Given the description of an element on the screen output the (x, y) to click on. 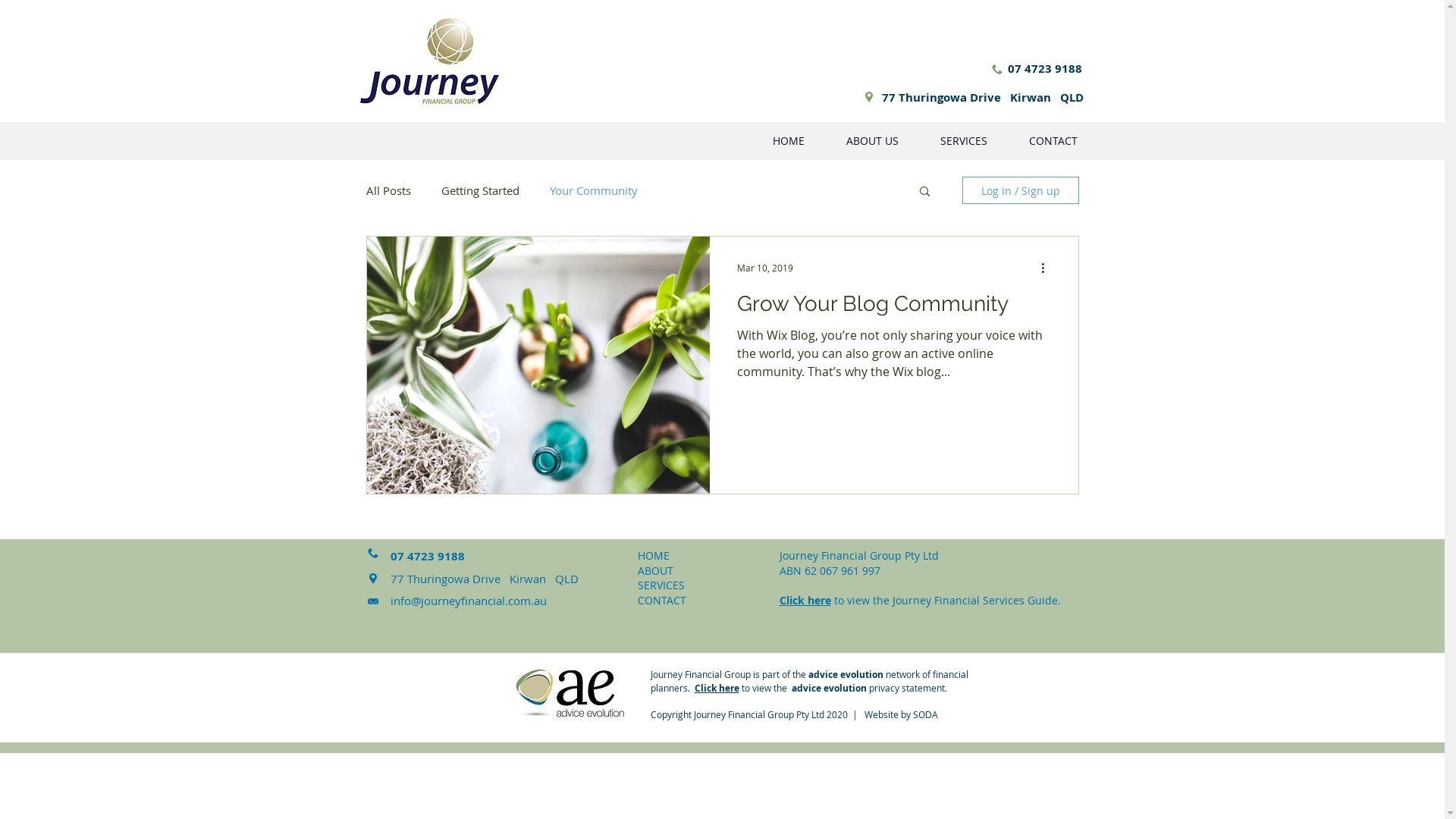
Grow Your Blog Community Element type: text (894, 307)
SERVICES Element type: text (963, 140)
HOME Element type: text (788, 140)
SERVICES Element type: text (660, 584)
Your Community Element type: text (593, 189)
Click here Element type: text (716, 687)
info@journeyfinancial.com.au Element type: text (467, 600)
Getting Started Element type: text (480, 189)
CONTACT Element type: text (661, 600)
CONTACT Element type: text (1053, 140)
Click here Element type: text (805, 600)
Log in / Sign up Element type: text (1019, 189)
ABOUT US Element type: text (872, 140)
HOME Element type: text (652, 555)
ABOUT Element type: text (654, 570)
All Posts Element type: text (387, 189)
